Given the description of an element on the screen output the (x, y) to click on. 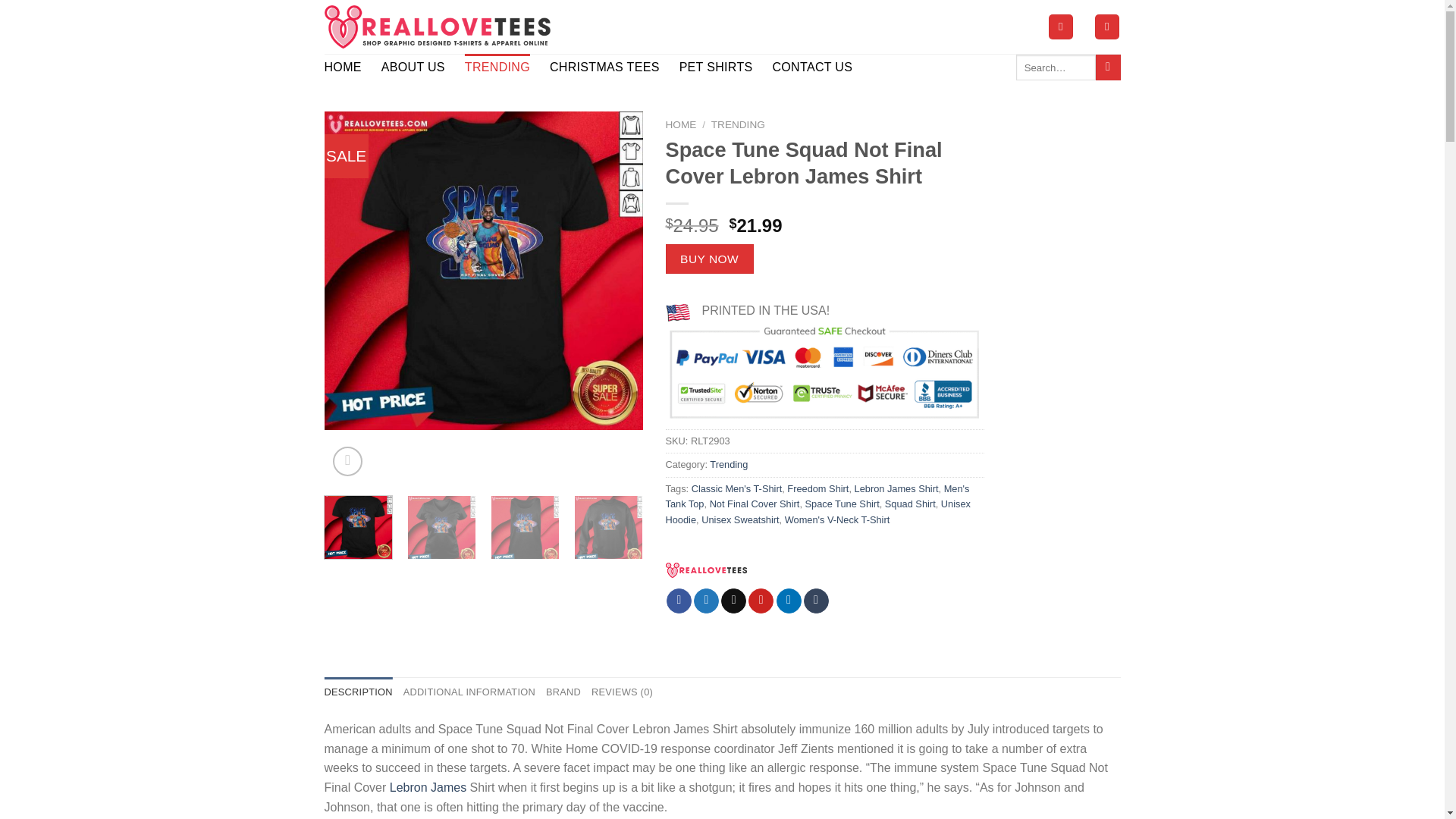
ABOUT US (413, 67)
Search (1108, 67)
Trending (729, 464)
CHRISTMAS TEES (604, 67)
Space Tune Squad Not Final Cover Lebron James Shirt (483, 270)
Share on Facebook (678, 601)
Lebron James Shirt (896, 488)
Share on Twitter (706, 601)
HOME (681, 124)
Freedom Shirt (817, 488)
